Given the description of an element on the screen output the (x, y) to click on. 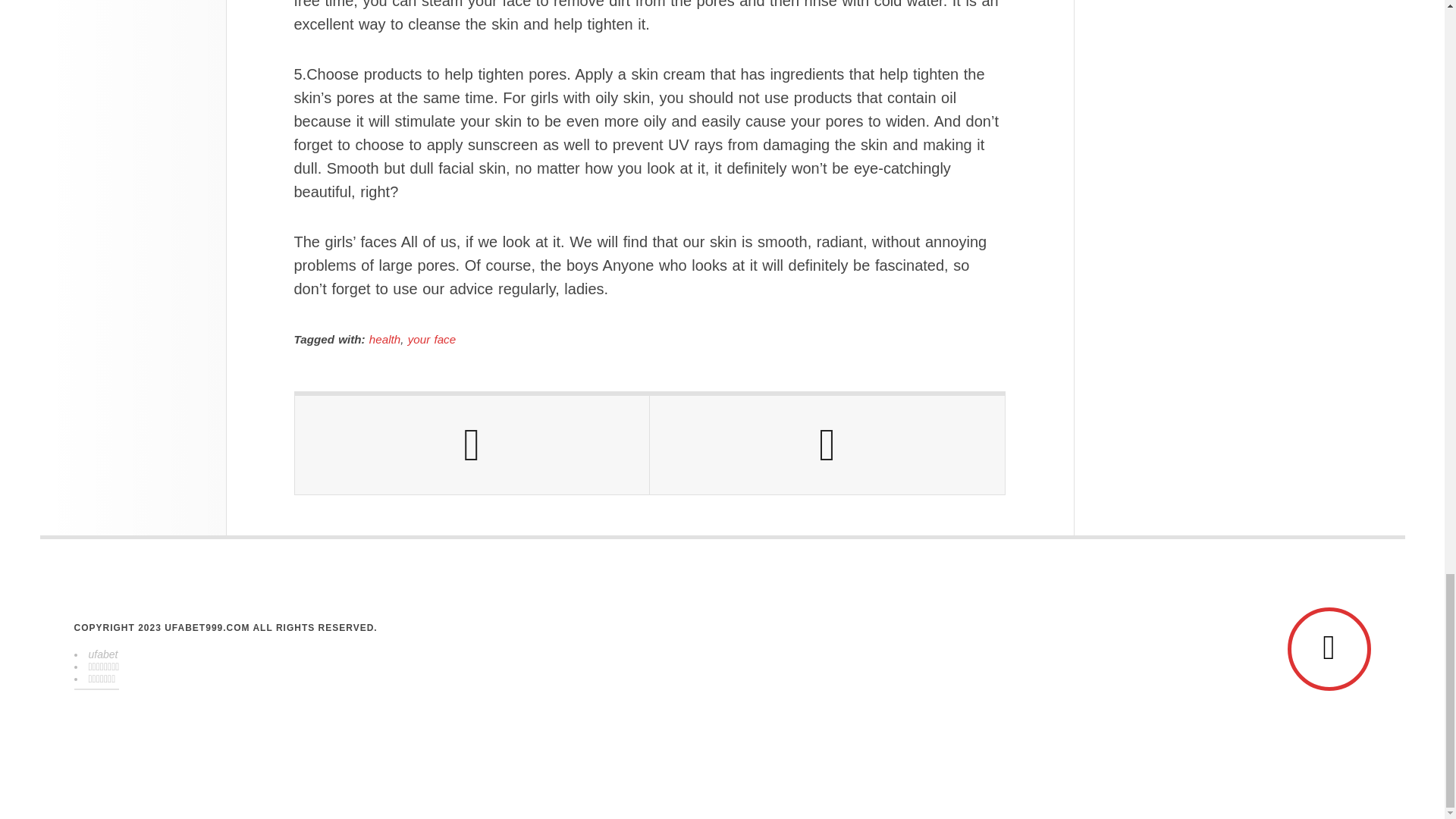
Previous Post (471, 444)
your face (431, 338)
ufabet (102, 654)
Next Post (826, 444)
health (384, 338)
